Given the description of an element on the screen output the (x, y) to click on. 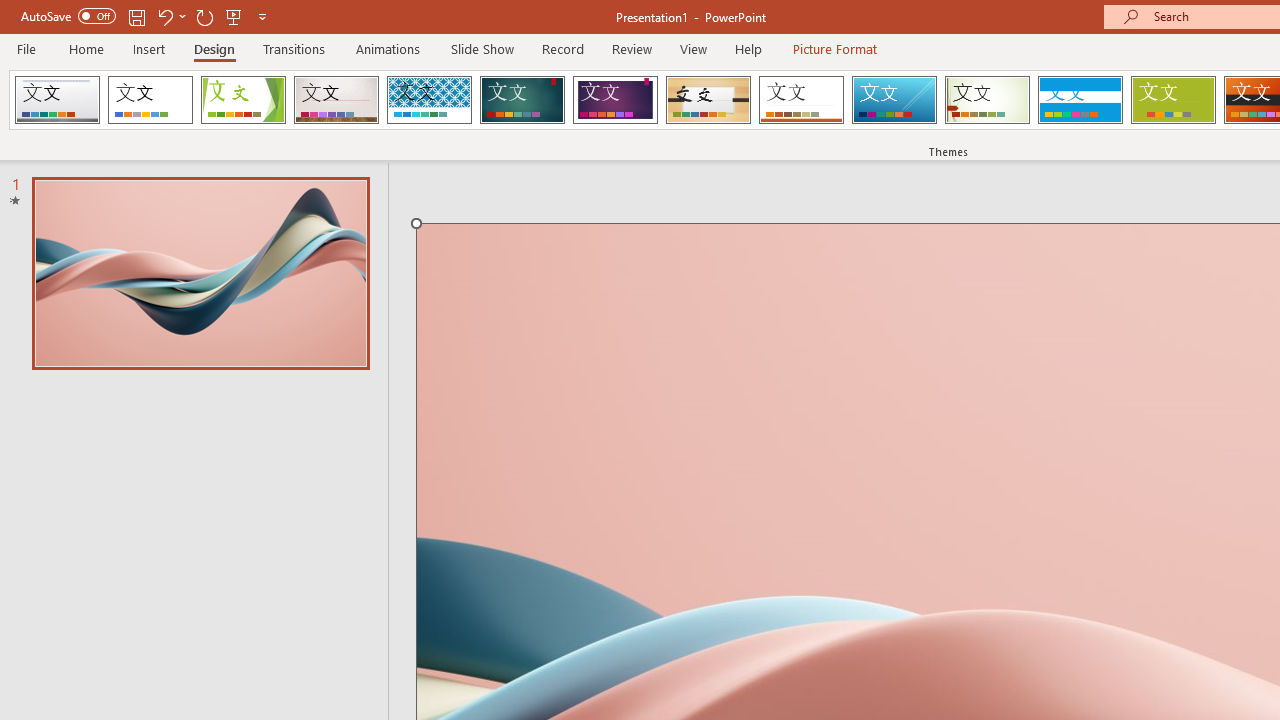
Ion (522, 100)
Picture Format (834, 48)
Slice (893, 100)
Facet (243, 100)
Office Theme (150, 100)
Organic (708, 100)
